Given the description of an element on the screen output the (x, y) to click on. 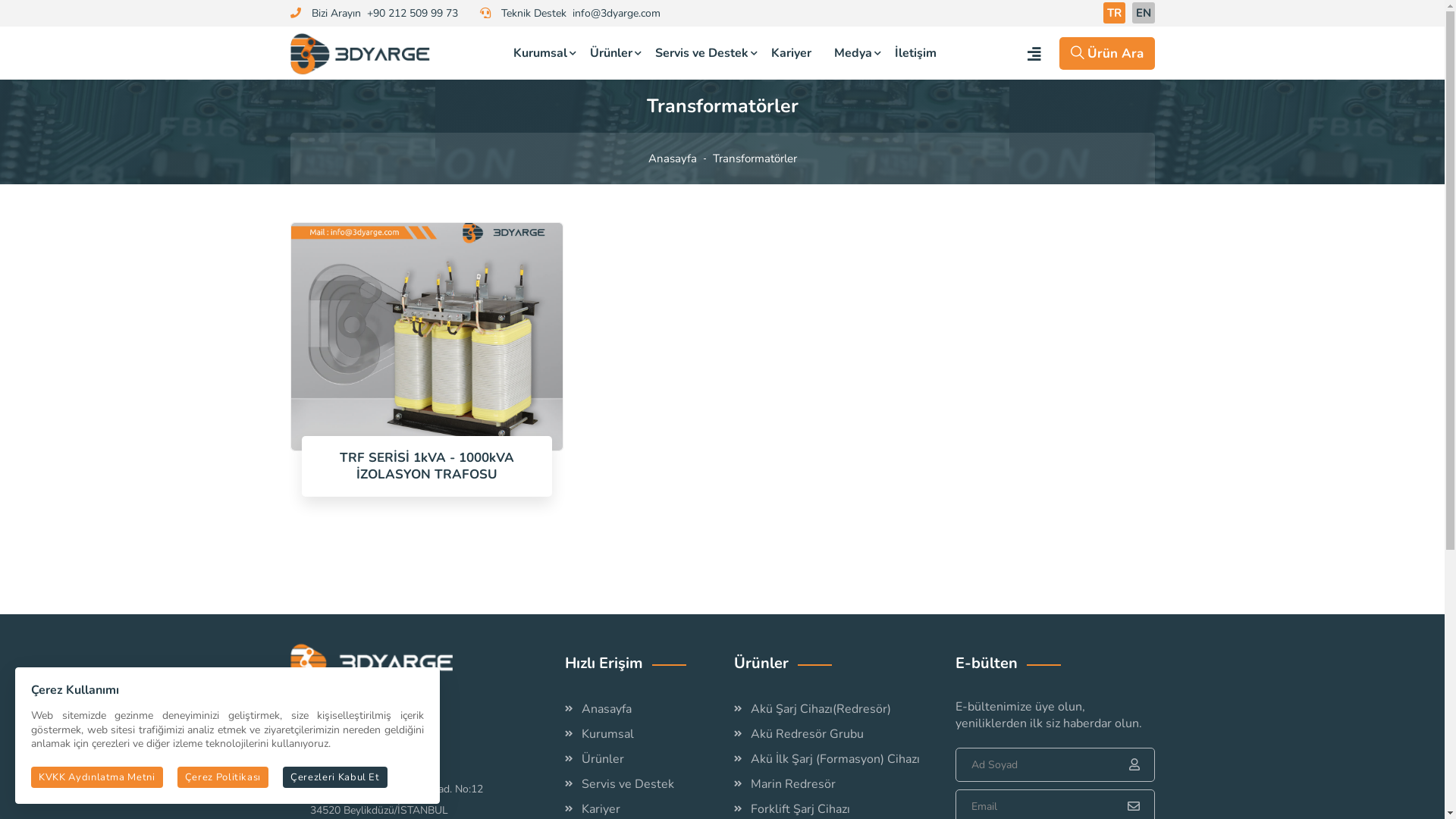
Kurumsal Element type: text (540, 52)
EN Element type: text (1142, 12)
Kariyer Element type: text (791, 52)
+90 212 509 99 73 Element type: text (412, 13)
Anasayfa Element type: text (671, 158)
Anasayfa Element type: text (606, 708)
+90 212 509 99 73 Element type: text (392, 718)
Medya Element type: text (853, 52)
Kurumsal Element type: text (607, 733)
info@3dyarge.com Element type: text (386, 765)
TR Element type: text (1113, 12)
info@3dyarge.com Element type: text (386, 741)
Servis ve Destek Element type: text (701, 52)
Servis ve Destek Element type: text (627, 783)
info@3dyarge.com Element type: text (615, 13)
